Given the description of an element on the screen output the (x, y) to click on. 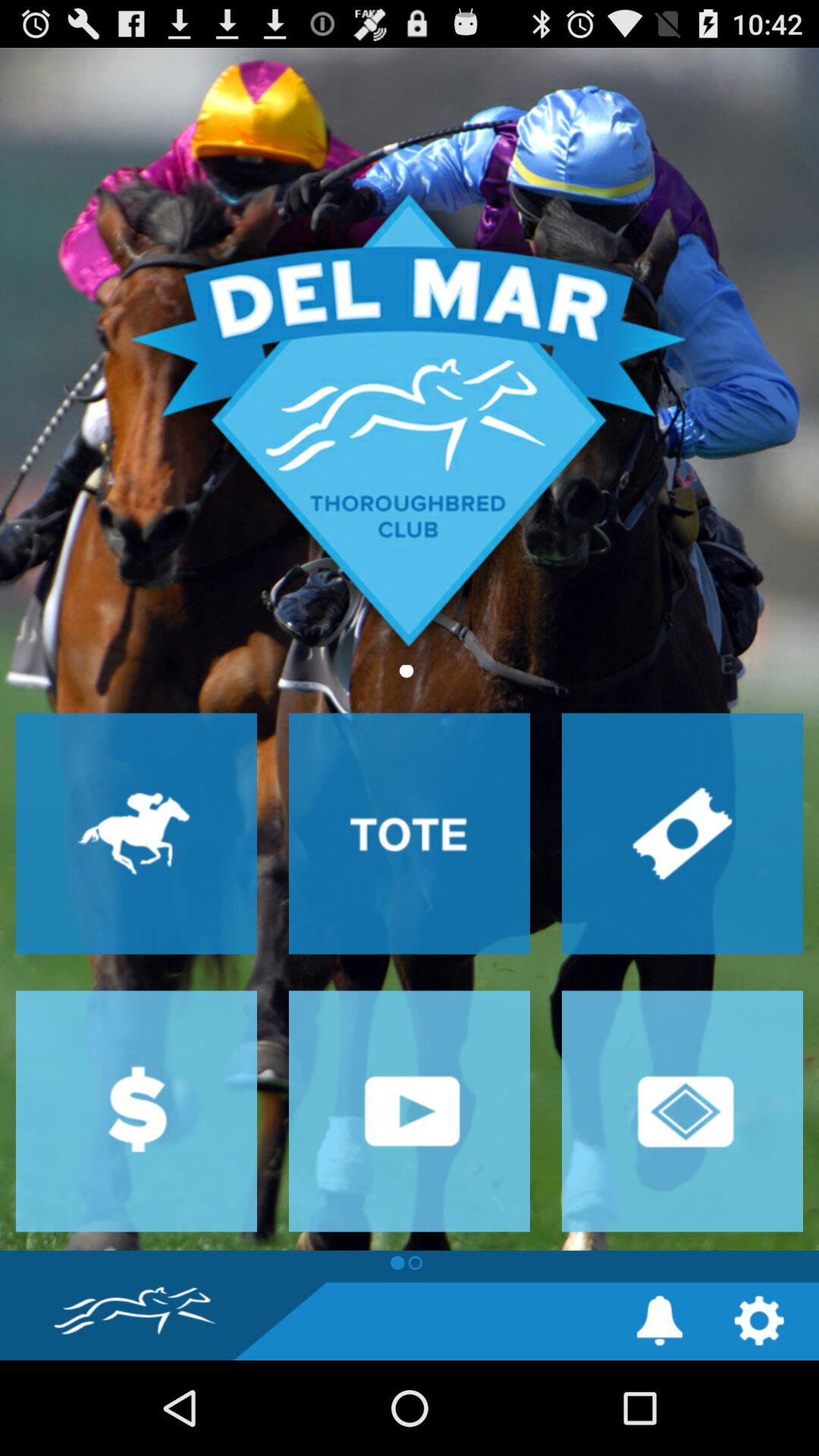
play (409, 1111)
